Given the description of an element on the screen output the (x, y) to click on. 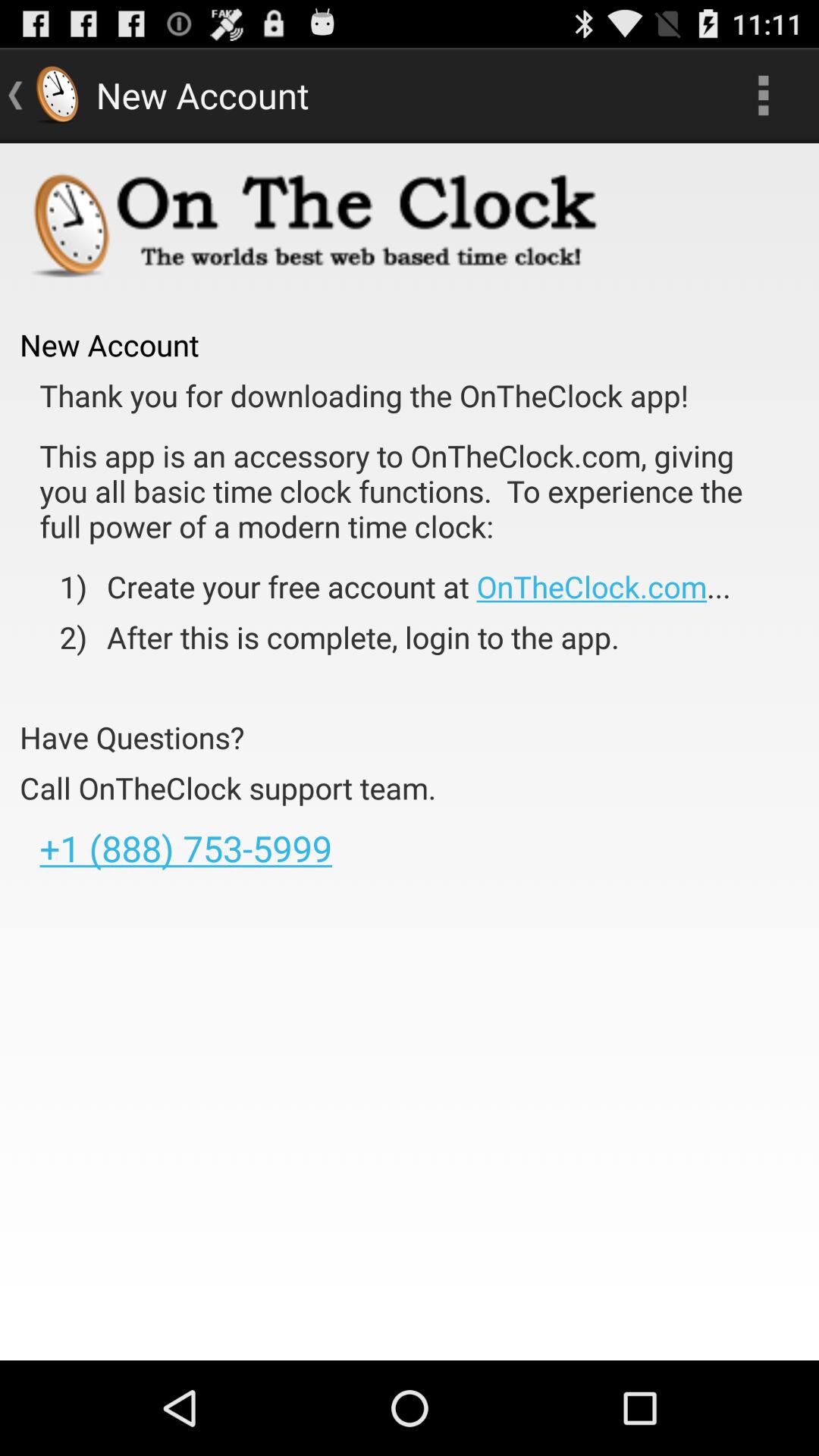
select item next to the 1) (408, 586)
